Given the description of an element on the screen output the (x, y) to click on. 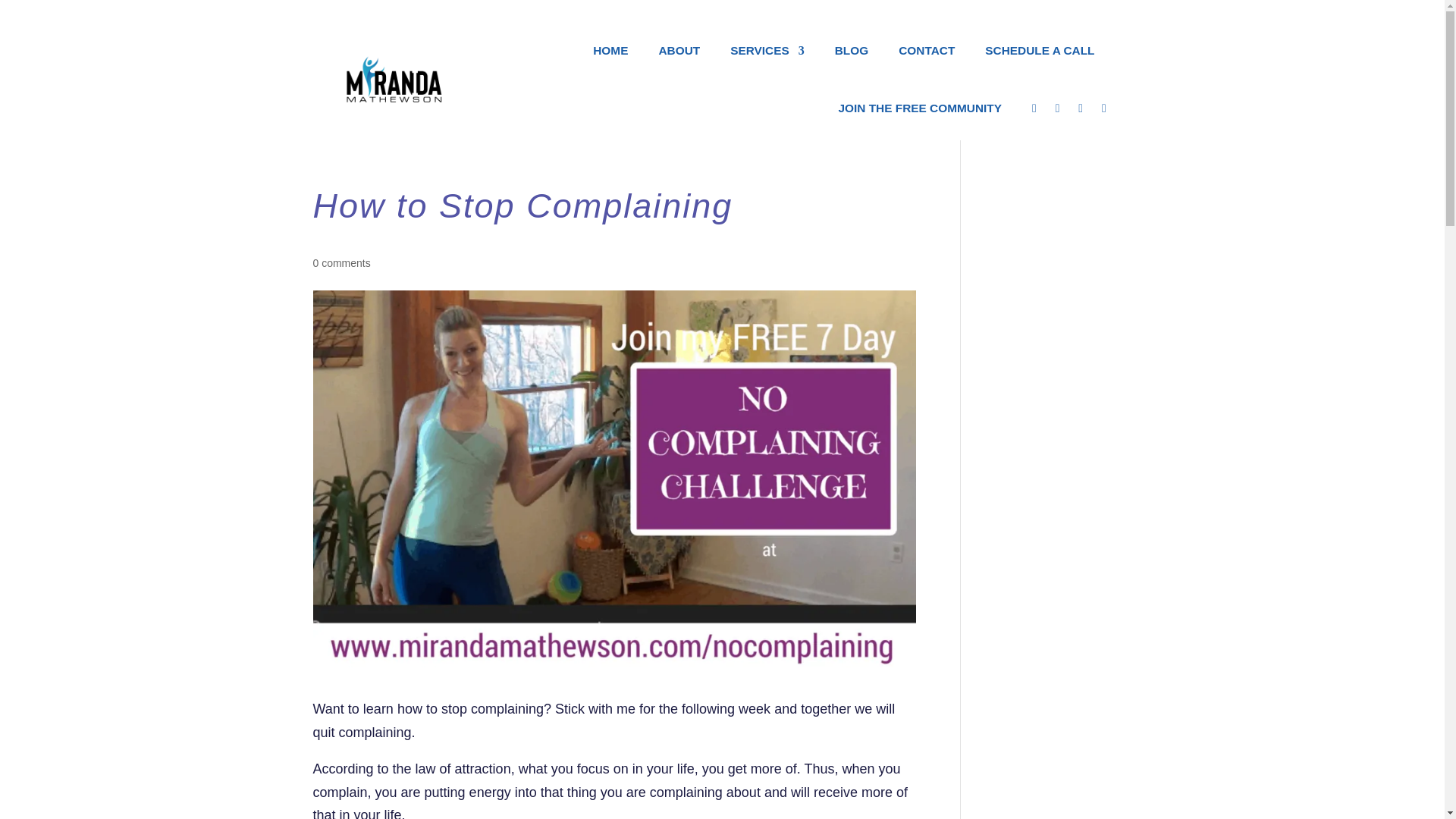
JOIN THE FREE COMMUNITY (919, 108)
SCHEDULE A CALL (1039, 50)
SERVICES (767, 50)
0 comments (341, 262)
CONTACT (926, 50)
